Given the description of an element on the screen output the (x, y) to click on. 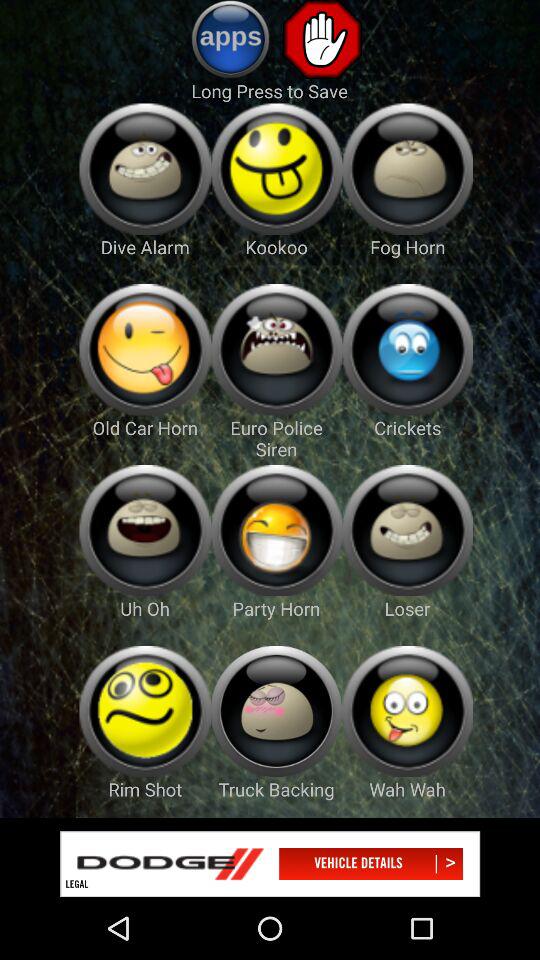
select the kookoo emoji (276, 169)
select the rim shot emoji (145, 711)
select the dive alarm emoji (145, 169)
select the 2nd emoji from the 2nd row (276, 349)
select the 3rd emoji from the 3rd row (407, 530)
